Given the description of an element on the screen output the (x, y) to click on. 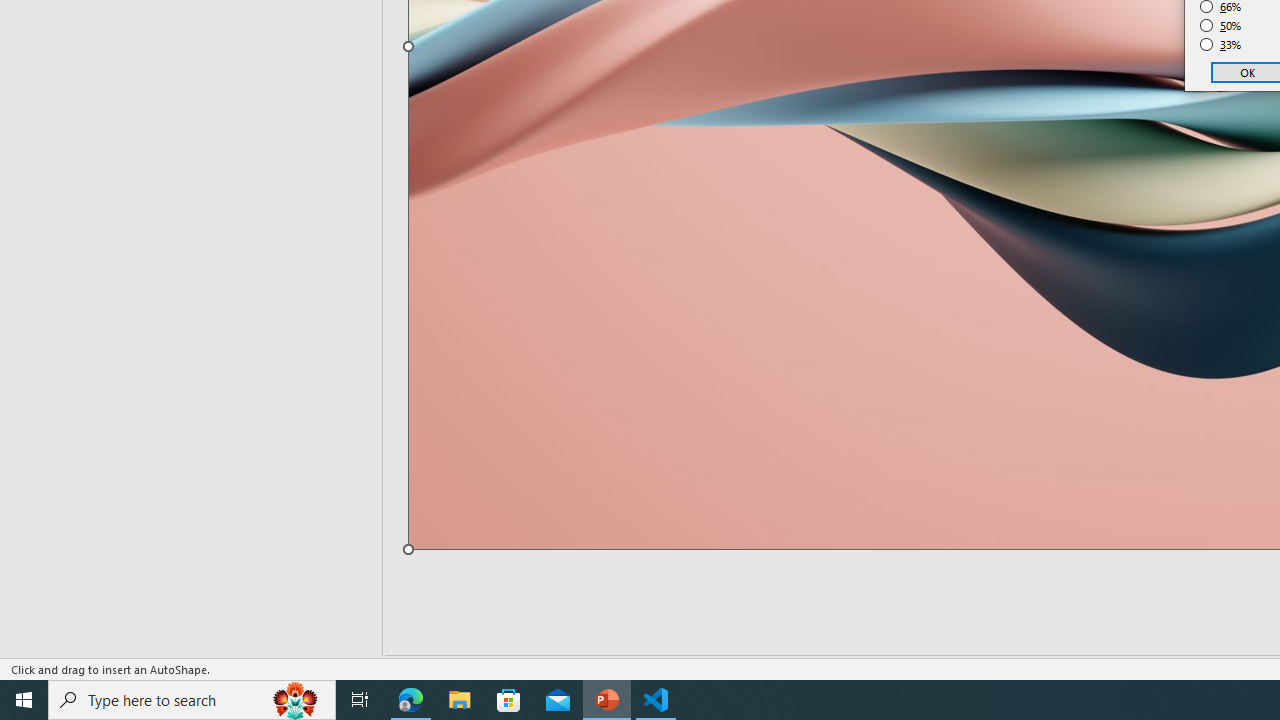
50% (1221, 25)
33% (1221, 44)
